Given the description of an element on the screen output the (x, y) to click on. 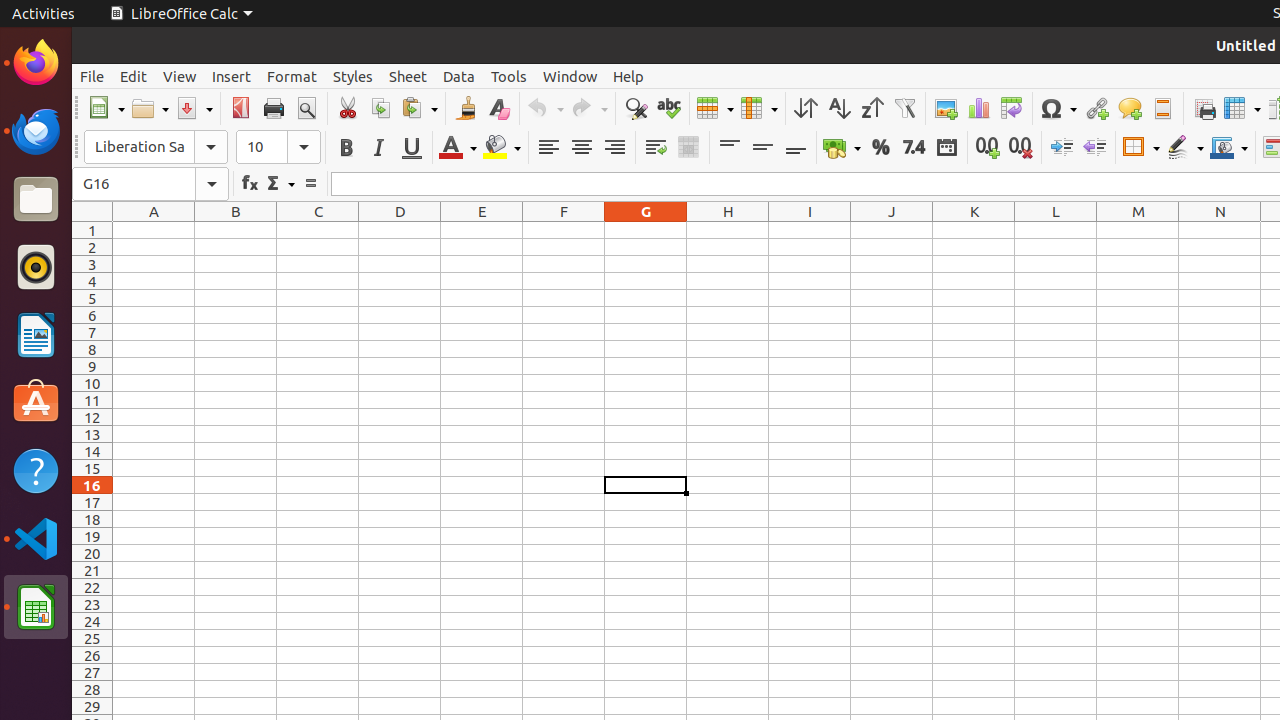
Sort Ascending Element type: push-button (838, 108)
B1 Element type: table-cell (236, 230)
Sort Element type: push-button (805, 108)
Rhythmbox Element type: push-button (36, 267)
Merge and Center Cells Element type: push-button (688, 147)
